Given the description of an element on the screen output the (x, y) to click on. 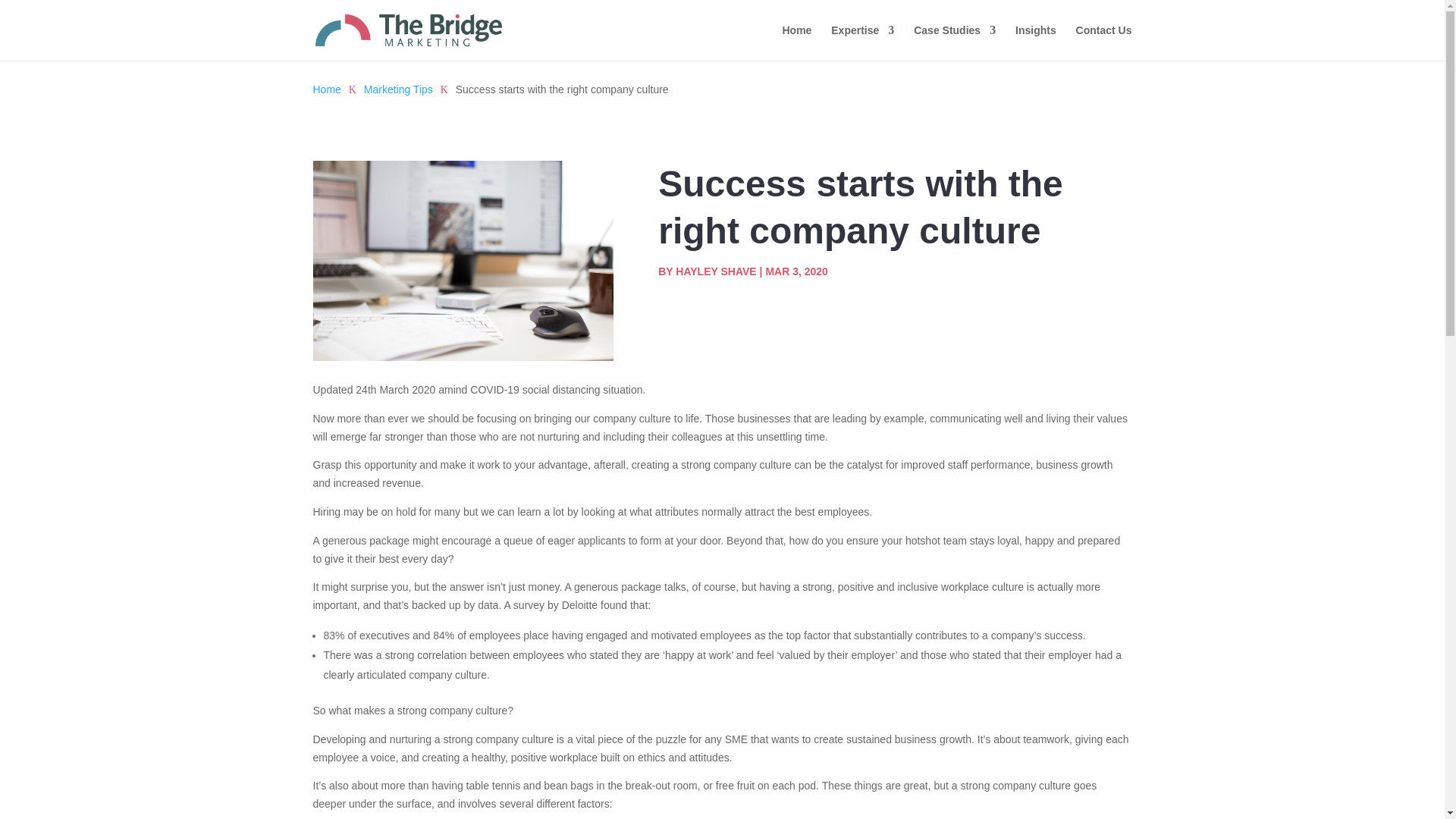
Home (326, 89)
Expertise (862, 42)
Posts by Hayley Shave (715, 271)
Home (795, 42)
Insights (1035, 42)
HAYLEY SHAVE (715, 271)
Cetteup-54t5rivyAiI-unsplash (462, 260)
Case Studies (954, 42)
Contact Us (1103, 42)
Marketing Tips (398, 89)
